Given the description of an element on the screen output the (x, y) to click on. 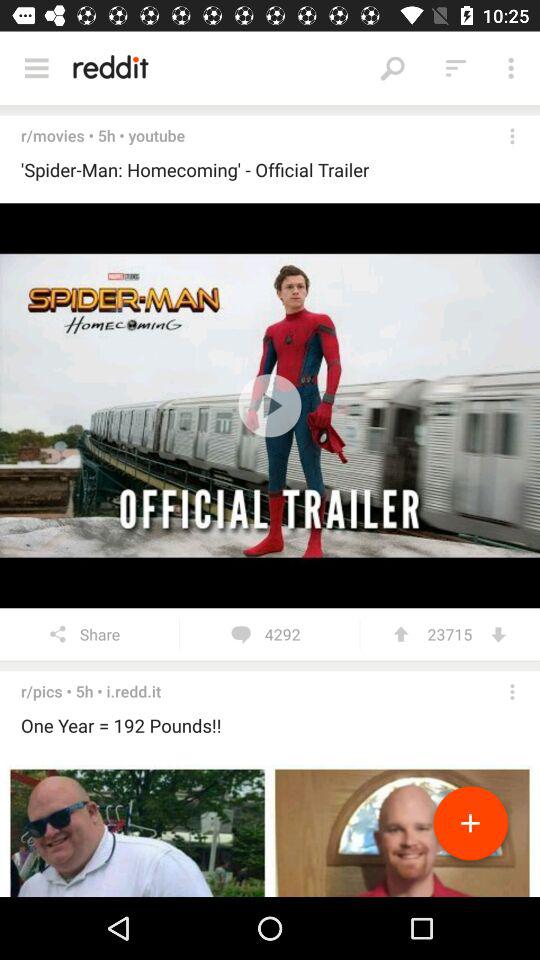
see more options (512, 691)
